Given the description of an element on the screen output the (x, y) to click on. 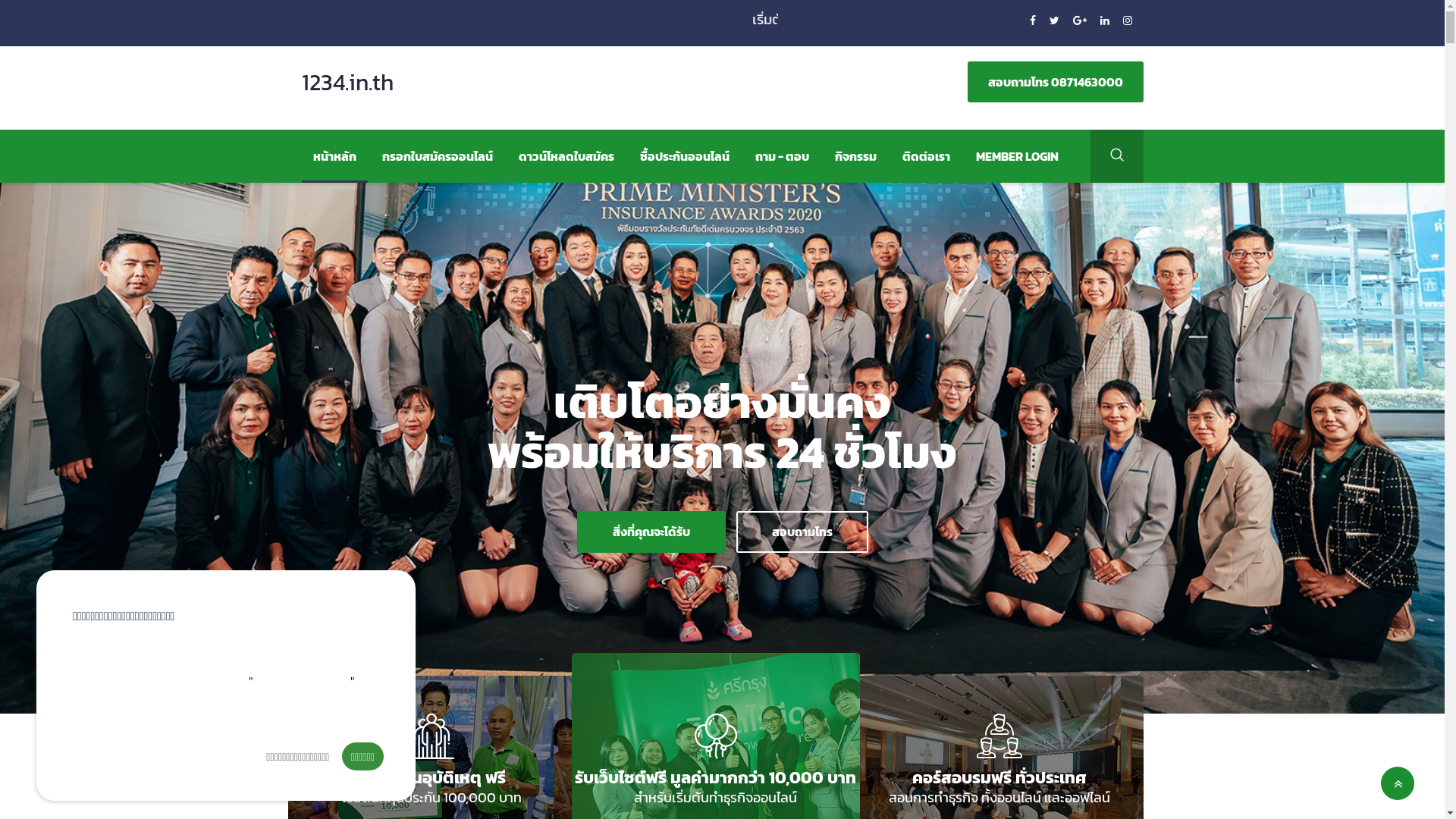
Twitter Element type: hover (1055, 20)
MEMBER LOGIN Element type: text (1017, 155)
Linkdin Element type: hover (1104, 20)
Google+ Element type: hover (1080, 20)
Back to Top Element type: hover (1397, 783)
1234.in.th Element type: text (362, 87)
Facebook Element type: hover (1033, 20)
Skype Element type: hover (1126, 20)
